Given the description of an element on the screen output the (x, y) to click on. 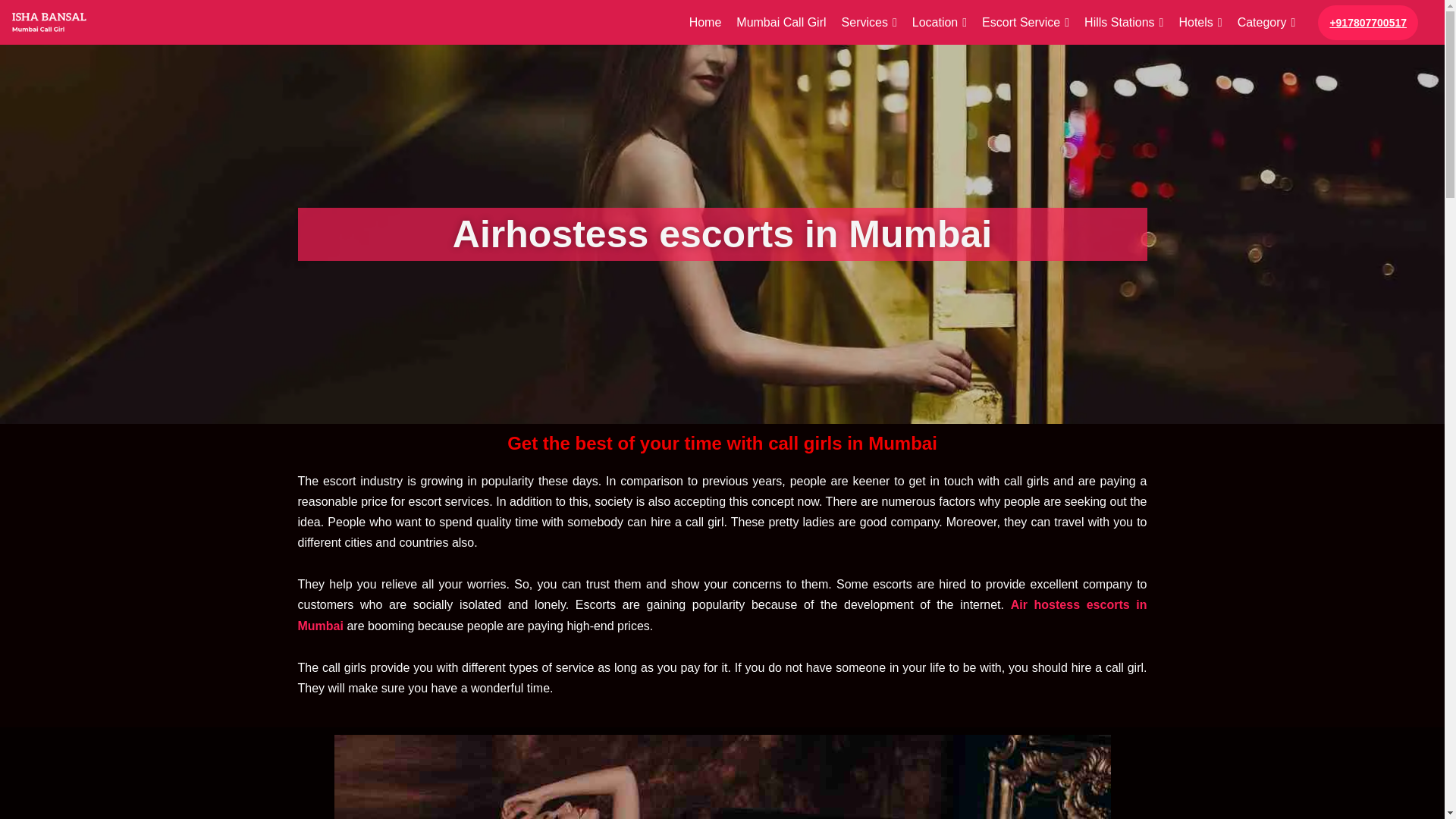
Services (869, 22)
Home (705, 22)
Location (939, 22)
Mumbai Call Girl (780, 22)
